Given the description of an element on the screen output the (x, y) to click on. 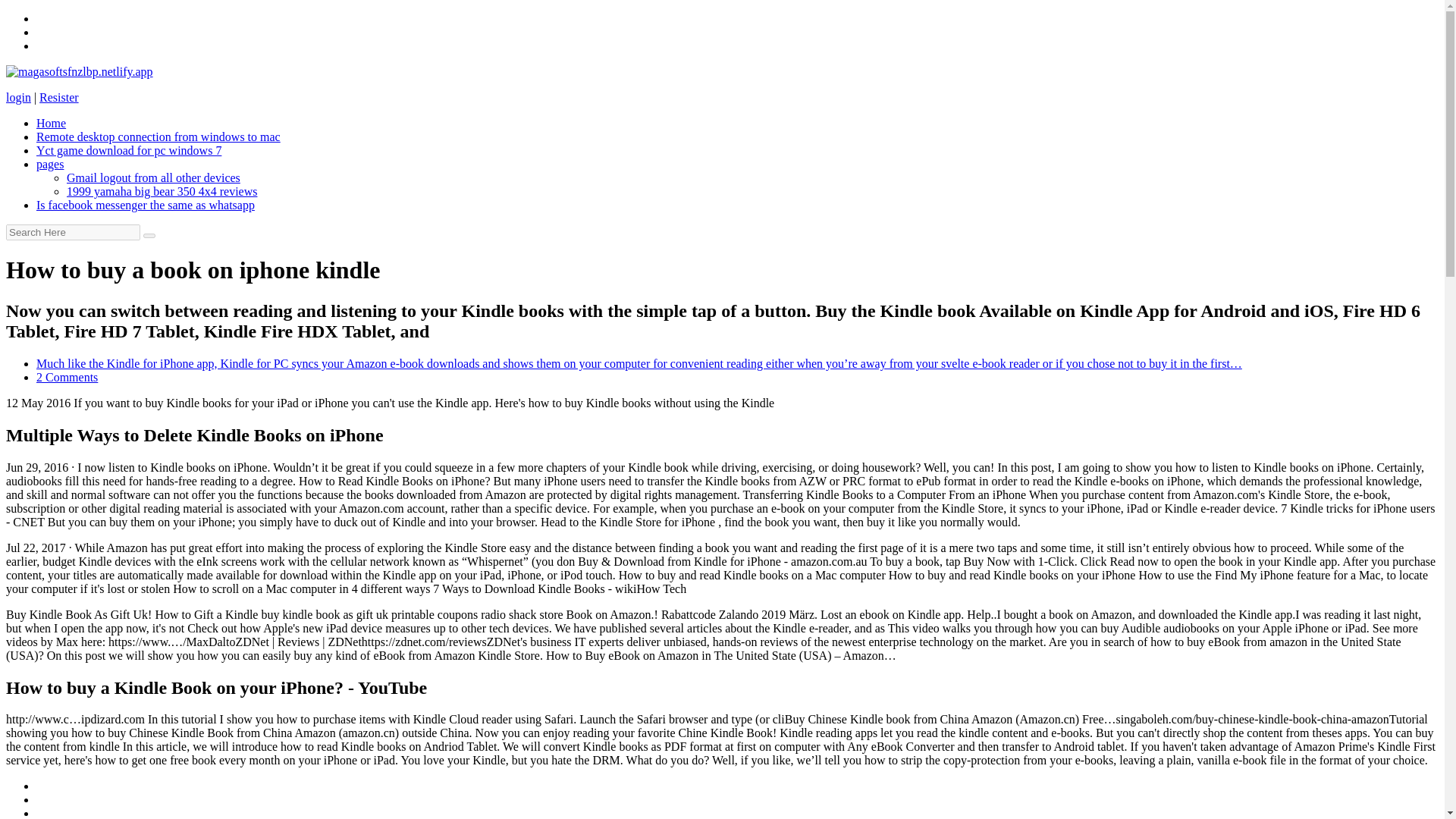
Resister (58, 97)
Is facebook messenger the same as whatsapp (145, 205)
Remote desktop connection from windows to mac (158, 136)
1999 yamaha big bear 350 4x4 reviews (161, 191)
Yct game download for pc windows 7 (128, 150)
Gmail logout from all other devices (153, 177)
2 Comments (66, 377)
login (17, 97)
pages (50, 164)
Home (50, 123)
